Given the description of an element on the screen output the (x, y) to click on. 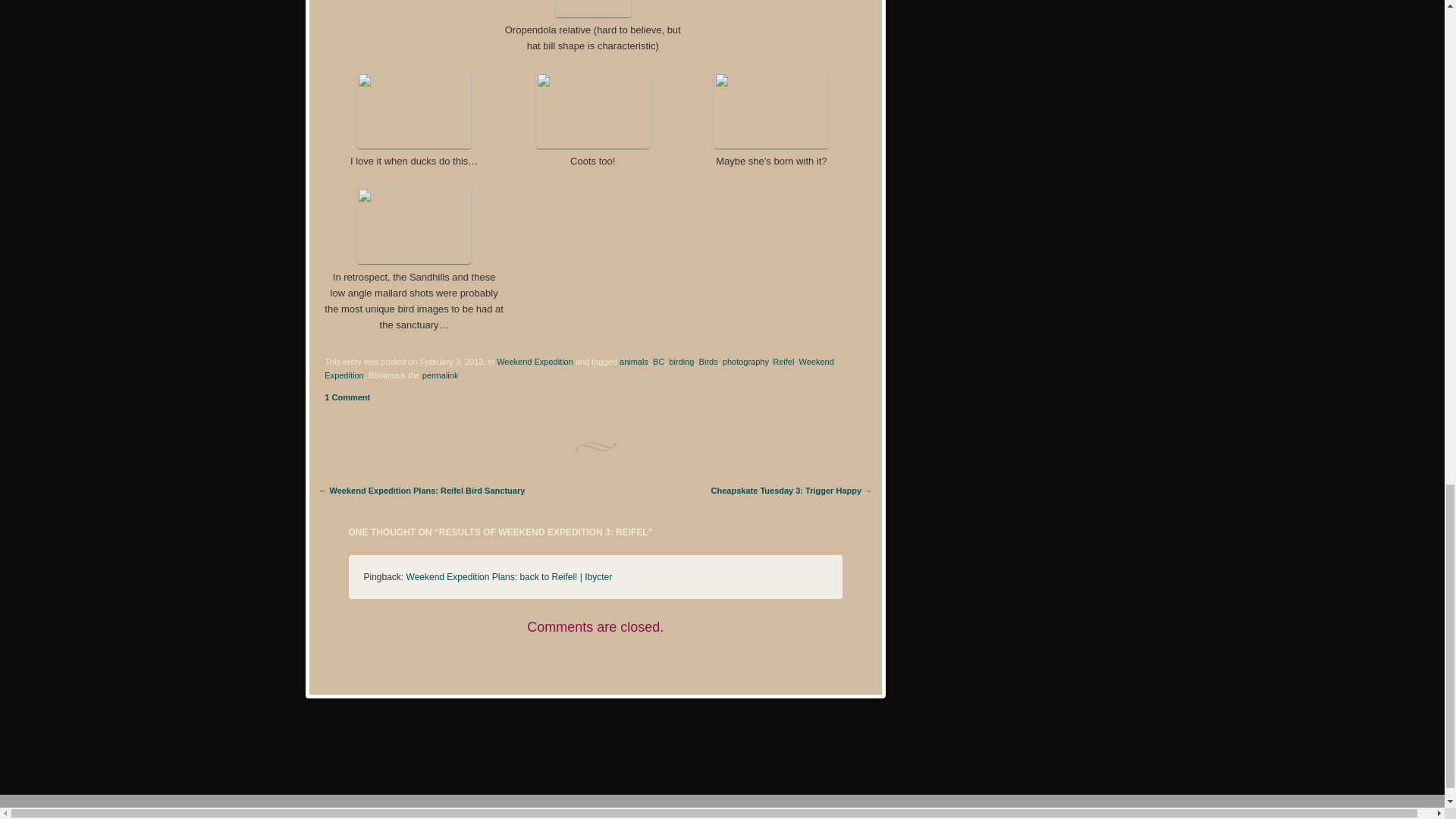
Semantic Personal Publishing Platform (108, 810)
Weekend Expedition (534, 361)
birding (681, 361)
Birds (707, 361)
BC (657, 361)
Permalink to Results of Weekend Expedition 3: Reifel (440, 375)
animals (633, 361)
